Given the description of an element on the screen output the (x, y) to click on. 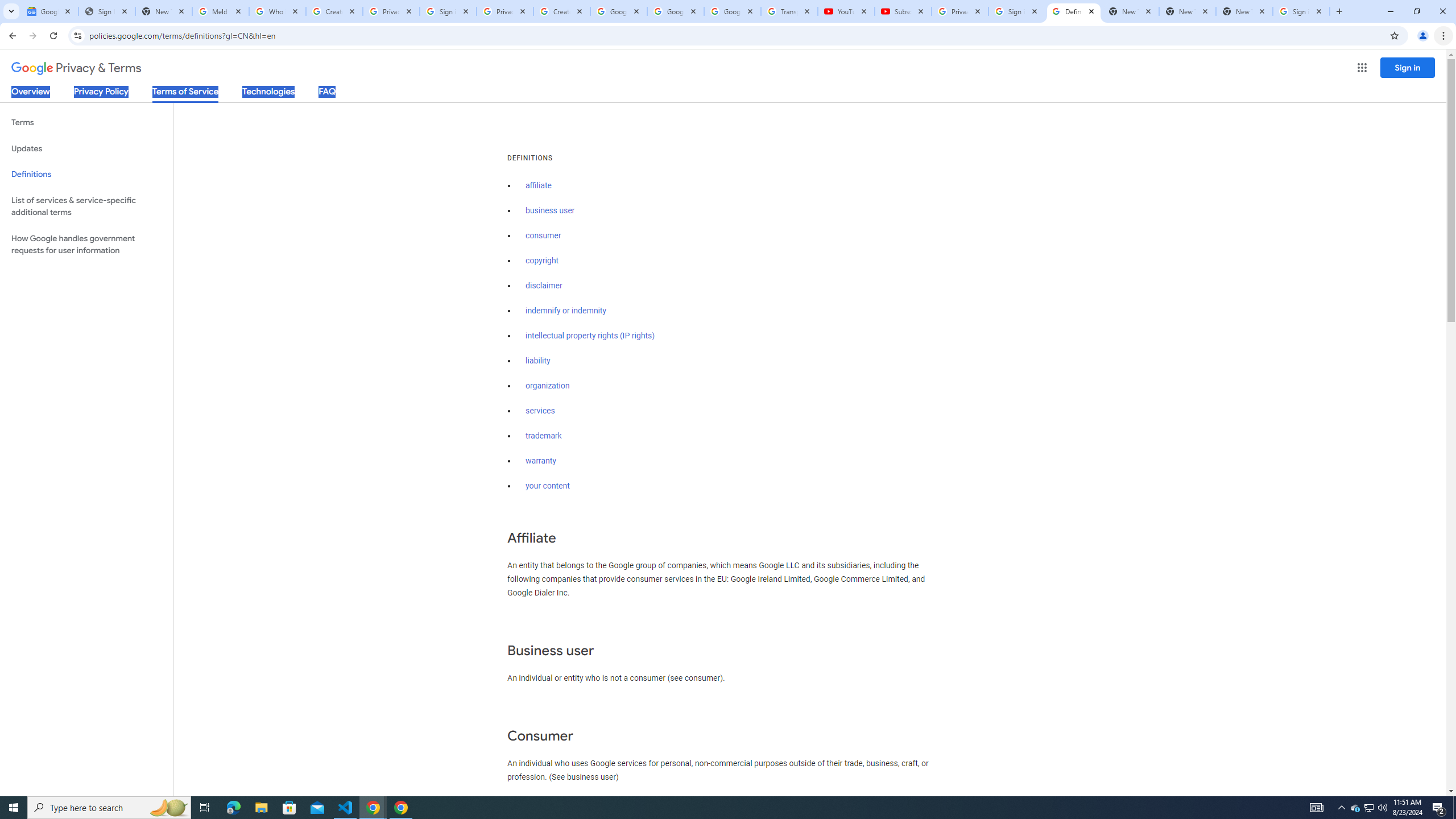
Create your Google Account (561, 11)
Sign in - Google Accounts (1301, 11)
warranty (540, 461)
copyright (542, 260)
organization (547, 385)
